Given the description of an element on the screen output the (x, y) to click on. 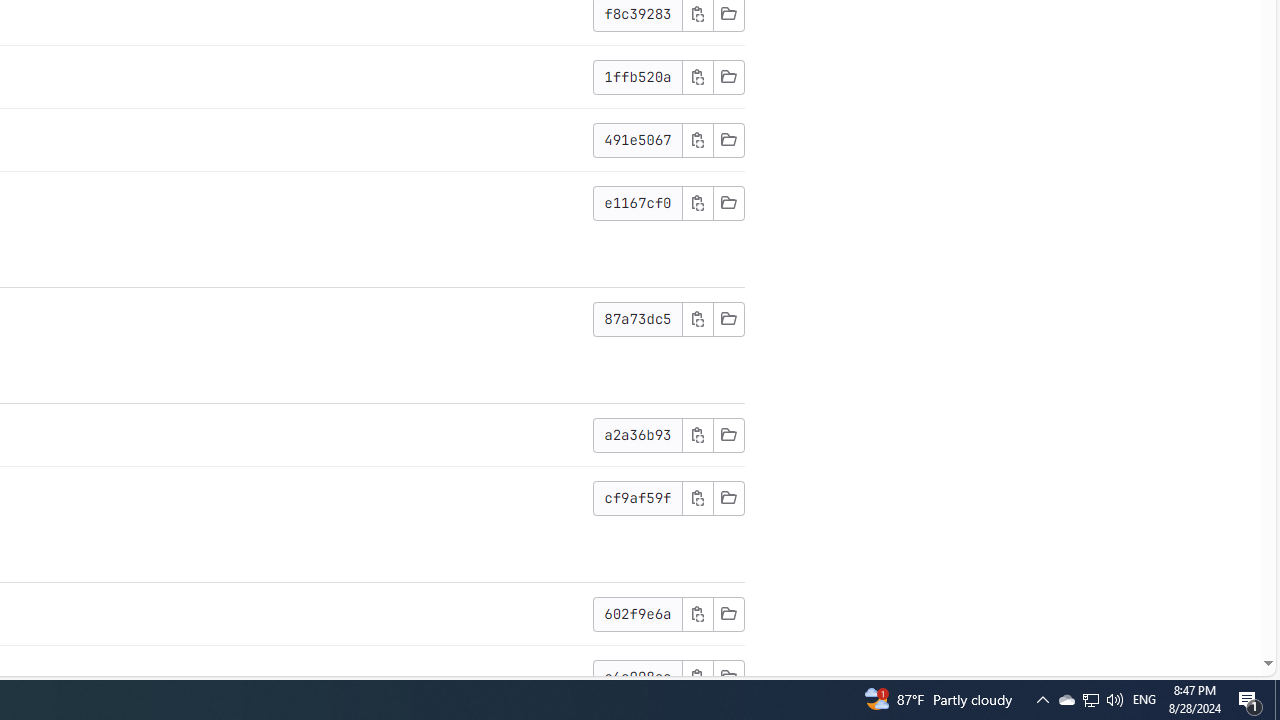
Copy commit SHA (697, 676)
Class: s16 (728, 676)
Class: s16 gl-icon gl-button-icon  (697, 676)
Browse Files (727, 676)
